Given the description of an element on the screen output the (x, y) to click on. 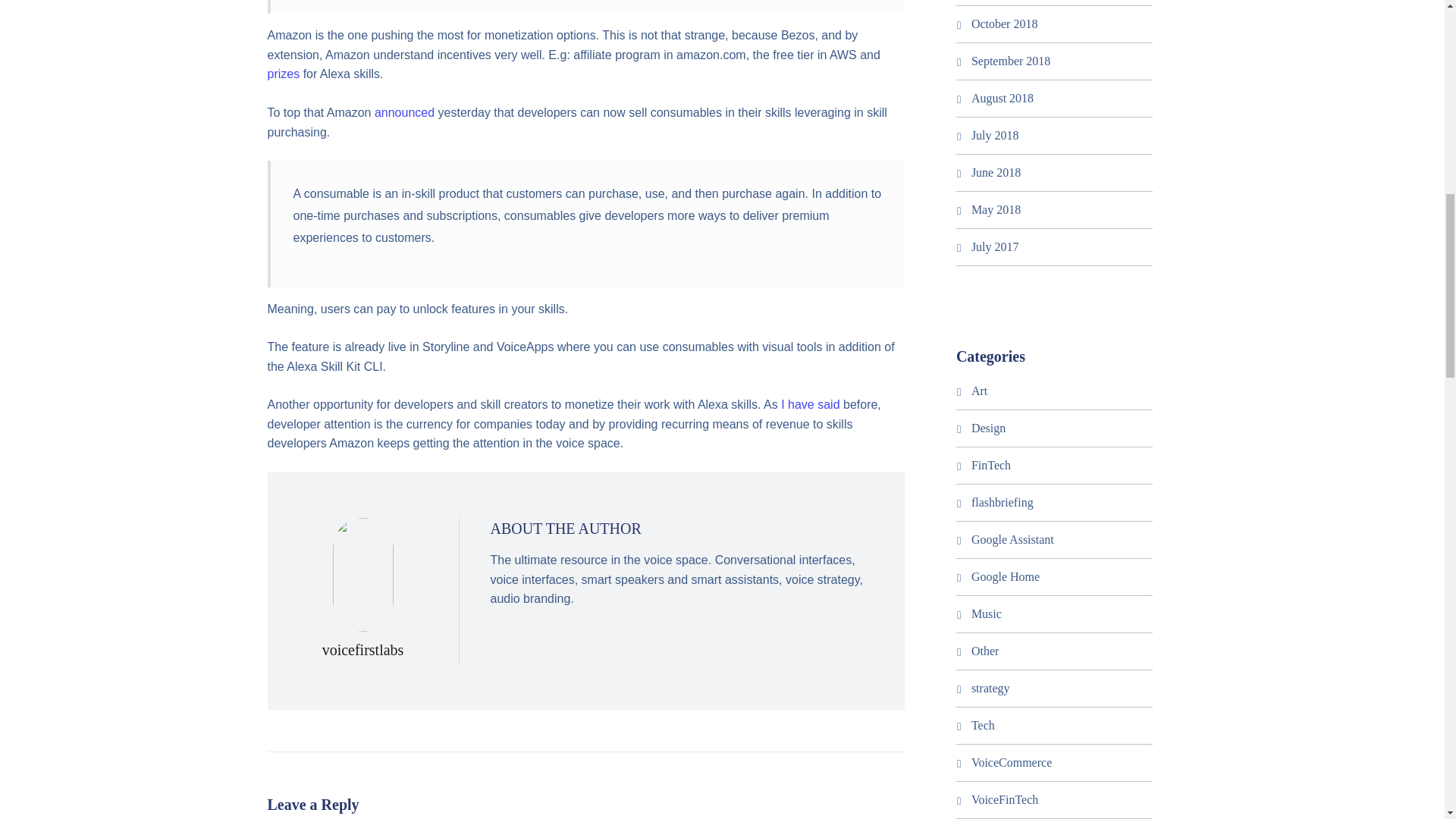
October 2018 (1004, 23)
voicefirstlabs (362, 649)
Google Assistant (1012, 539)
September 2018 (1010, 60)
flashbriefing (1002, 502)
Google Home (1005, 576)
I have said (810, 404)
Posts by voicefirstlabs (362, 649)
For the summary of every one of our flash briefings (1002, 502)
Art (979, 390)
